Given the description of an element on the screen output the (x, y) to click on. 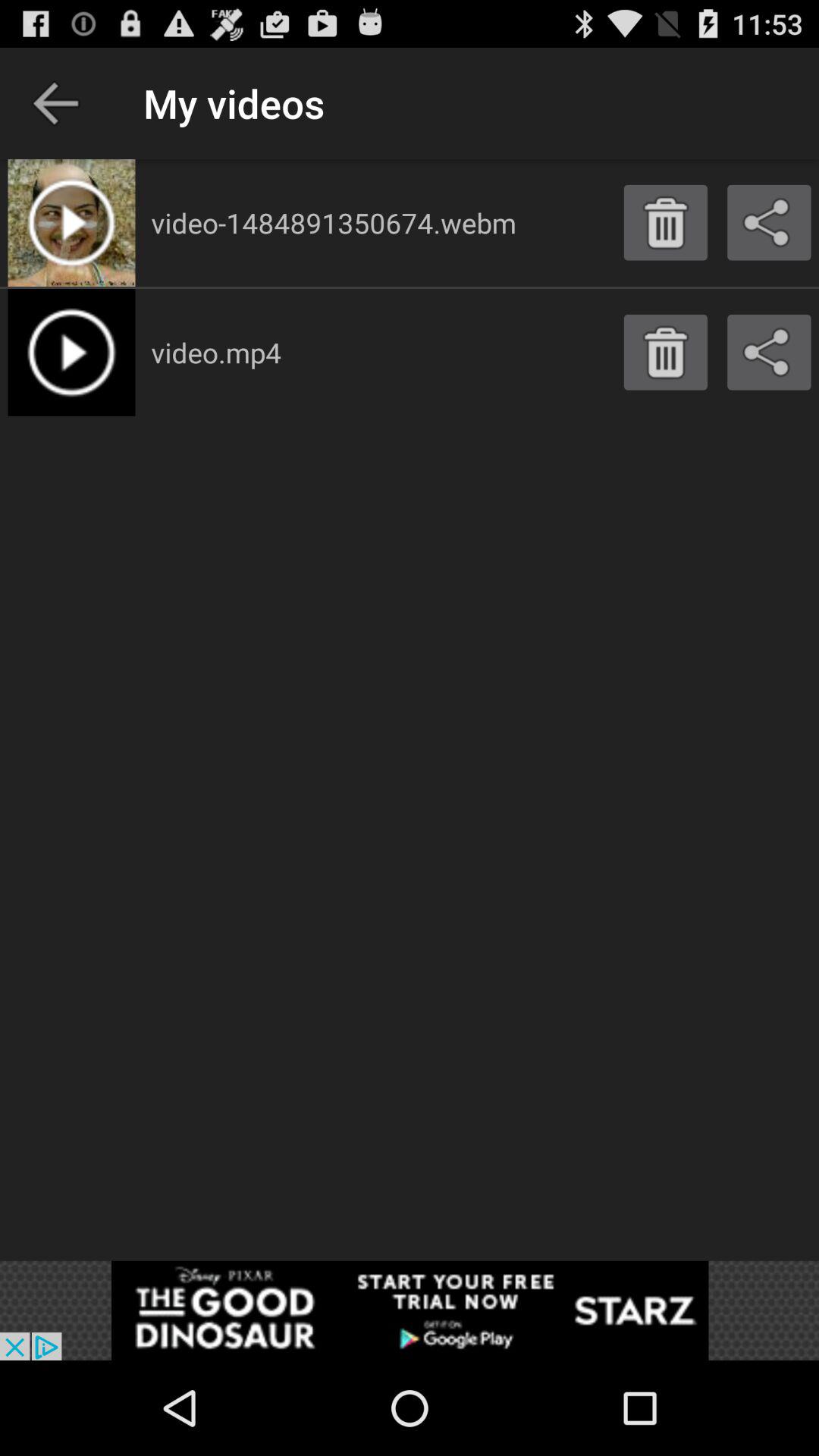
go to previous (55, 103)
